Given the description of an element on the screen output the (x, y) to click on. 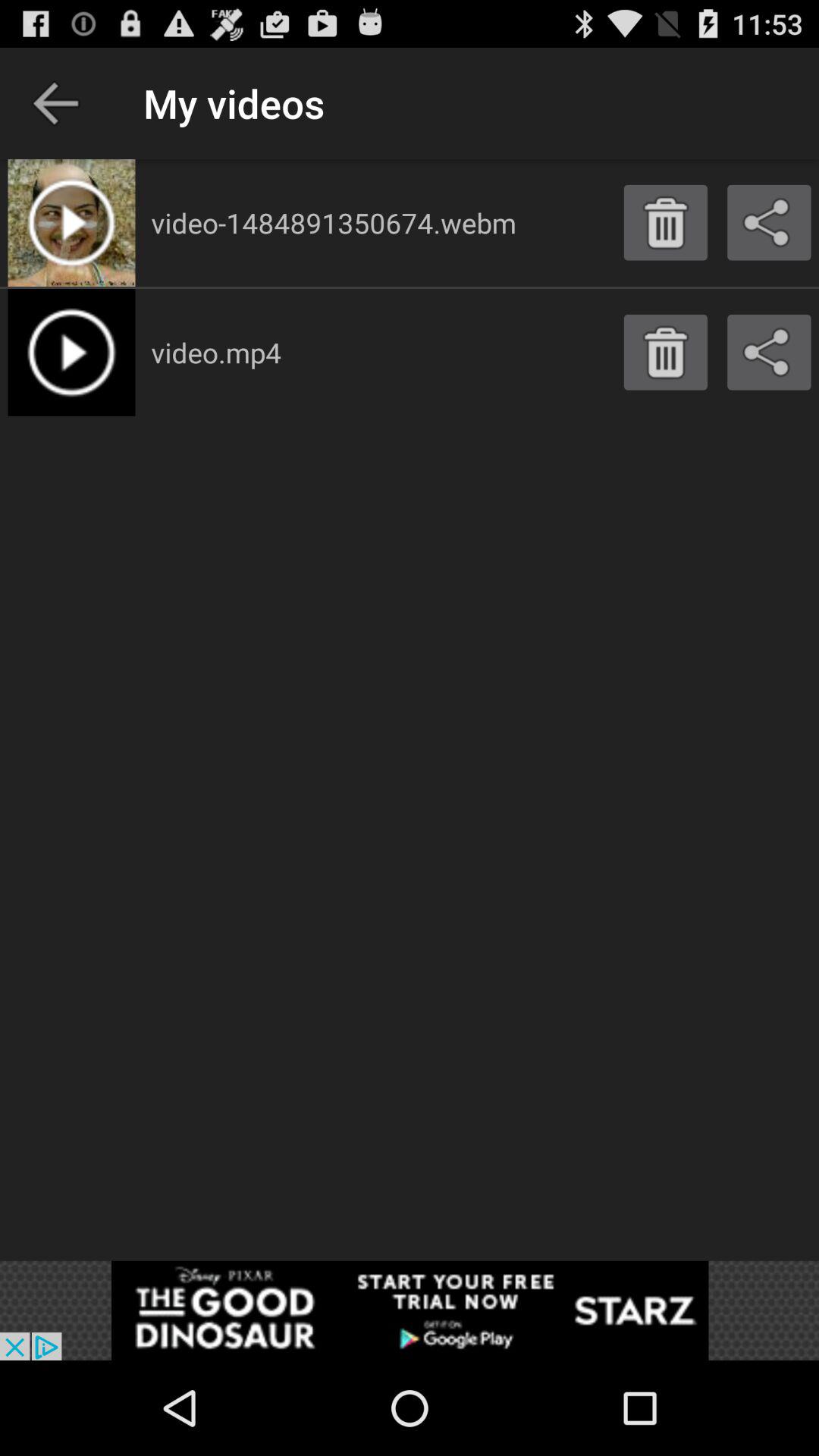
go to previous (55, 103)
